Given the description of an element on the screen output the (x, y) to click on. 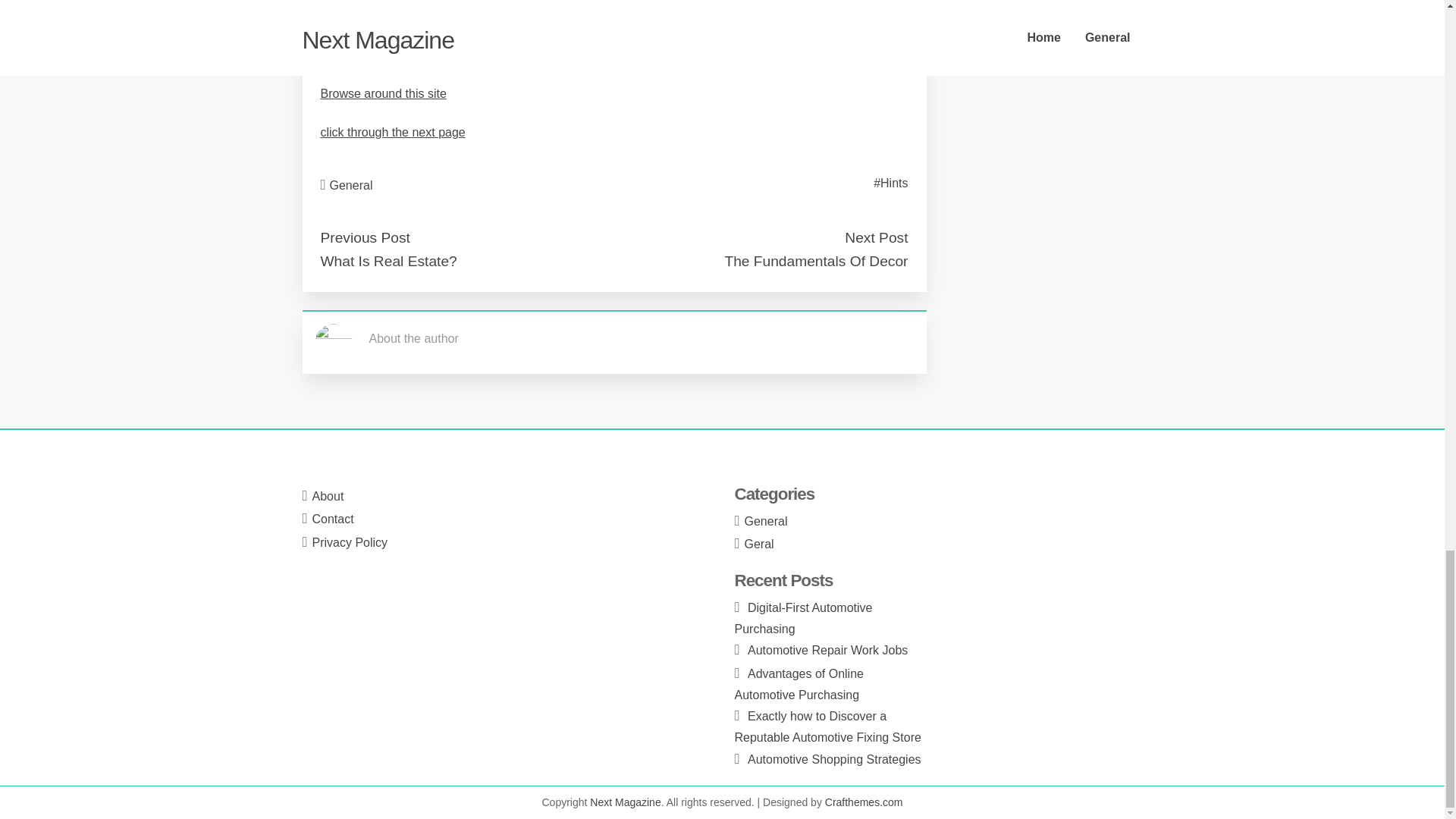
General (351, 184)
Previous Post (364, 237)
Browse around this site (382, 92)
About (328, 495)
Contact (333, 518)
The Fundamentals Of Decor (815, 261)
click through the next page (392, 132)
Next Post (875, 237)
What Is Real Estate? (388, 261)
Privacy Policy (350, 542)
